Given the description of an element on the screen output the (x, y) to click on. 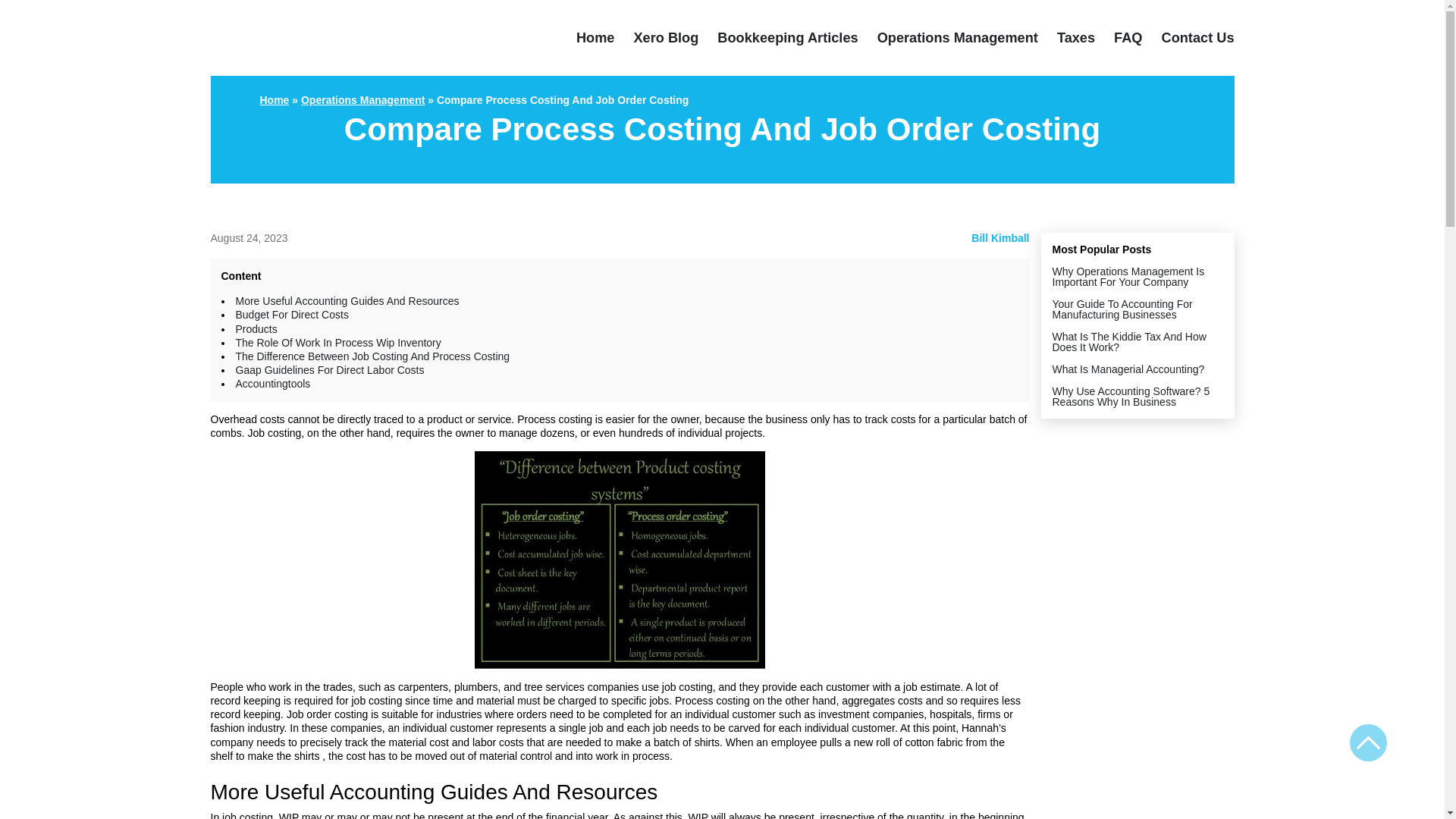
Gaap Guidelines For Direct Labor Costs (328, 369)
Why Use Accounting Software? 5 Reasons Why In Business (1130, 395)
FAQ (1127, 37)
The Role Of Work In Process Wip Inventory (337, 342)
Operations Management (957, 37)
Budget For Direct Costs (290, 314)
Bookkeeping Articles (787, 37)
Your Guide To Accounting For Manufacturing Businesses (1122, 309)
What Is The Kiddie Tax And How Does It Work? (1129, 341)
Accountingtools (272, 383)
Contact Us (1197, 37)
Bill Kimball (1000, 237)
Products (255, 328)
Home (595, 37)
Why Operations Management Is Important For Your Company (1128, 276)
